Given the description of an element on the screen output the (x, y) to click on. 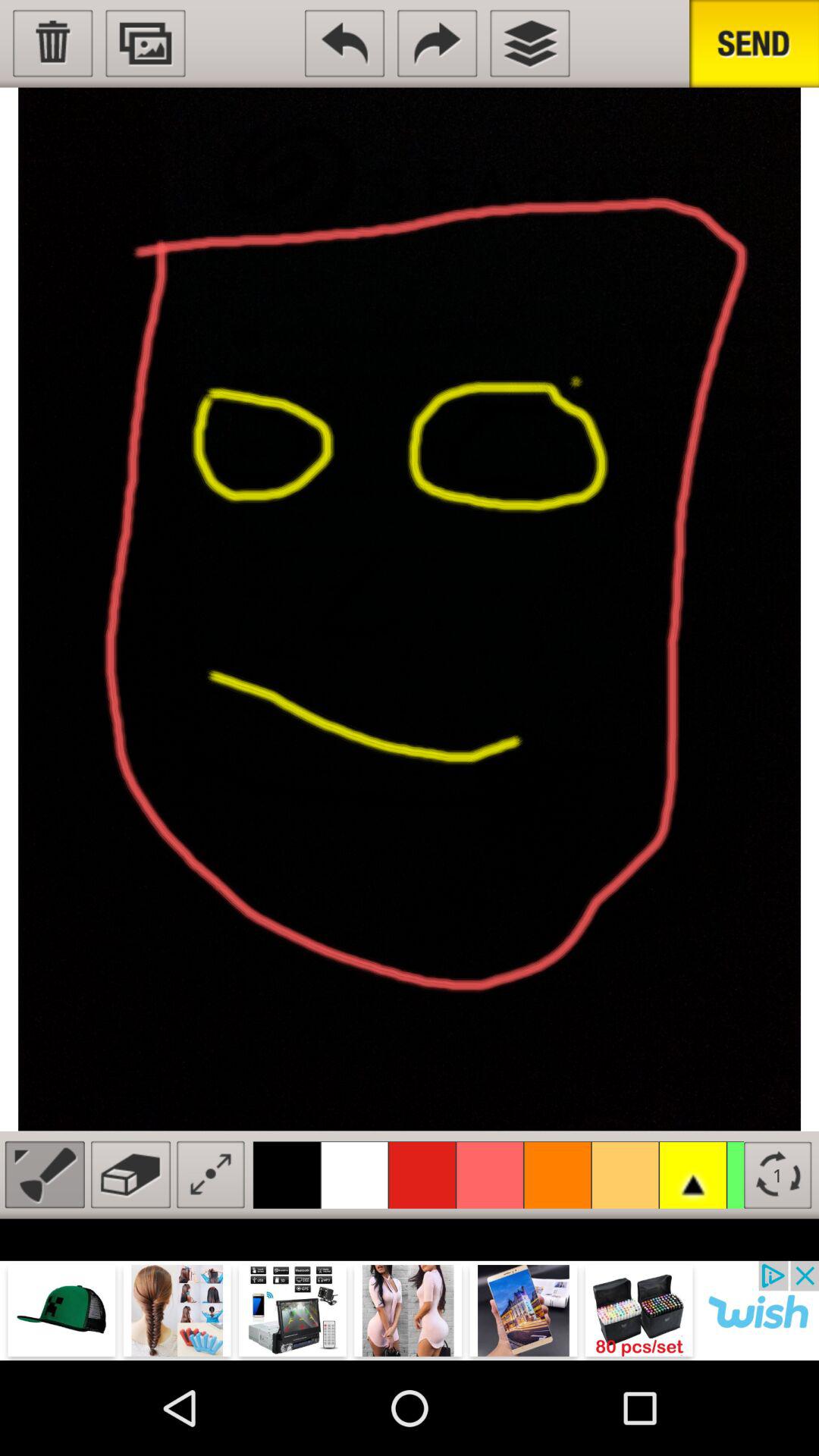
send picture (754, 43)
